Given the description of an element on the screen output the (x, y) to click on. 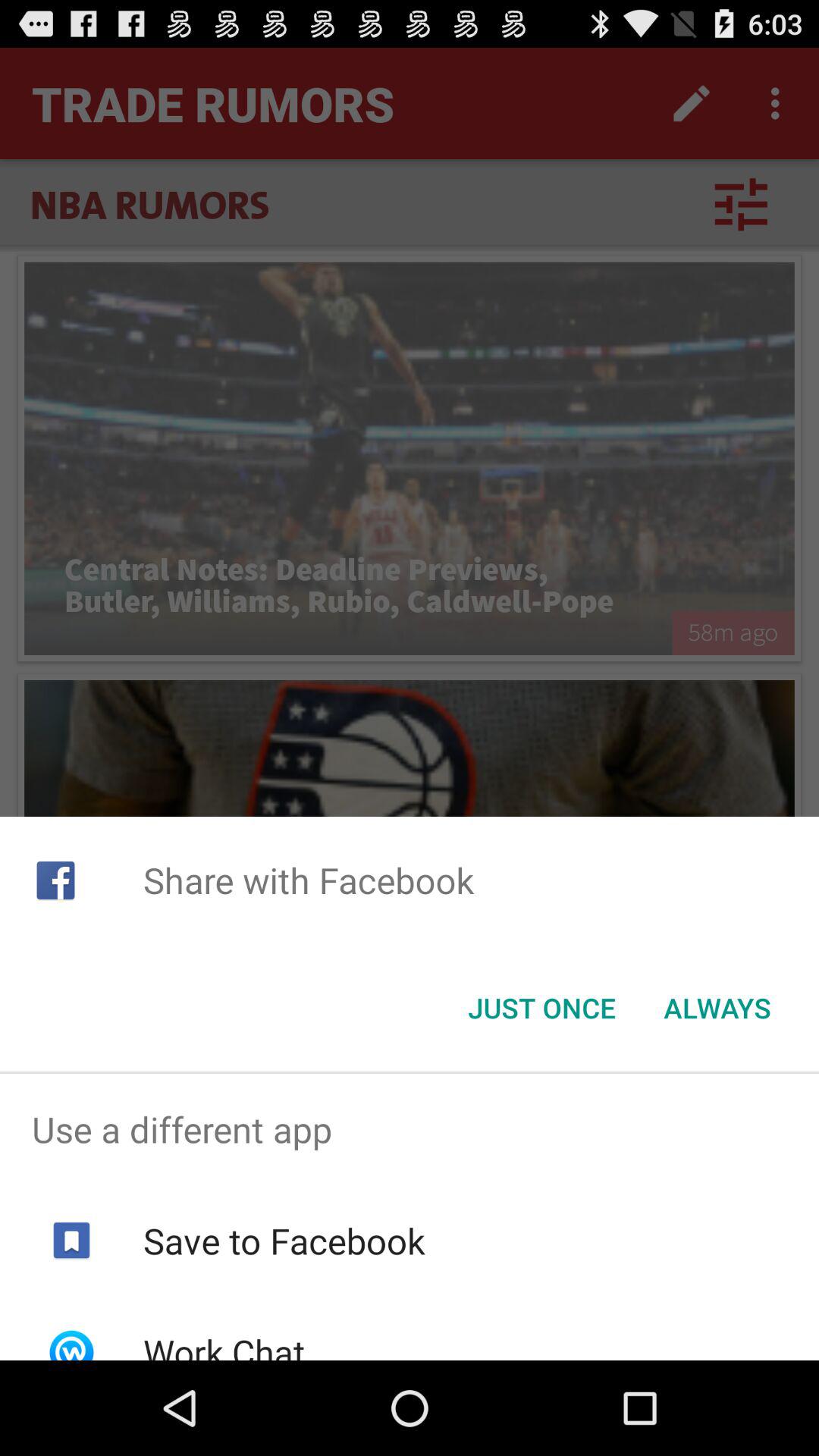
flip to save to facebook icon (284, 1240)
